Given the description of an element on the screen output the (x, y) to click on. 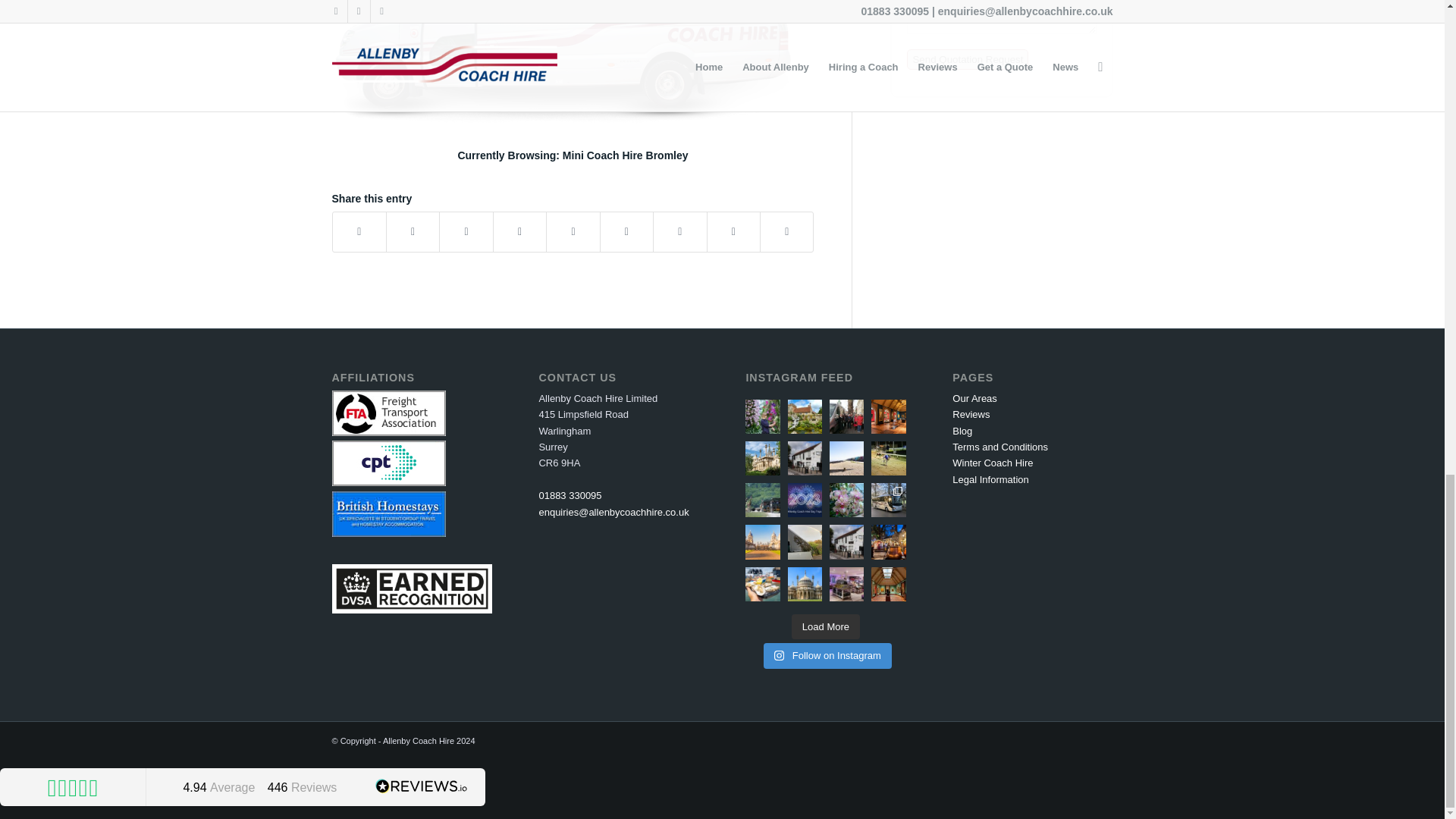
Send Quotation Request (967, 59)
Send Quotation Request (967, 59)
